Given the description of an element on the screen output the (x, y) to click on. 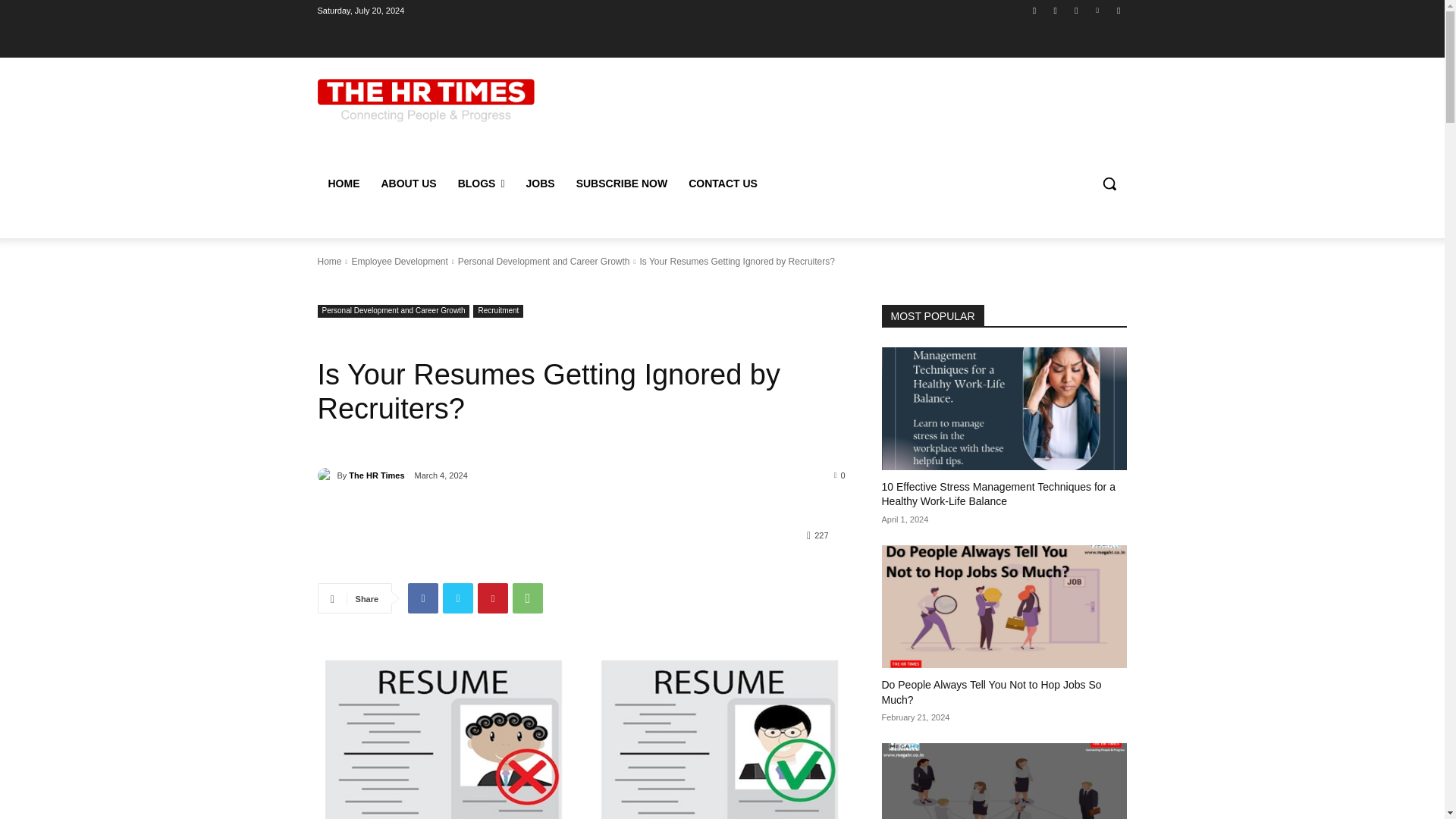
HOME (343, 183)
The HR Times (326, 475)
ABOUT US (407, 183)
Vimeo (1097, 9)
View all posts in Employee Development (398, 261)
Youtube (1117, 9)
SUBSCRIBE NOW (622, 183)
View all posts in Personal Development and Career Growth (544, 261)
CONTACT US (723, 183)
Facebook (1034, 9)
BLOGS (480, 183)
Instagram (1055, 9)
JOBS (540, 183)
Twitter (1075, 9)
